Given the description of an element on the screen output the (x, y) to click on. 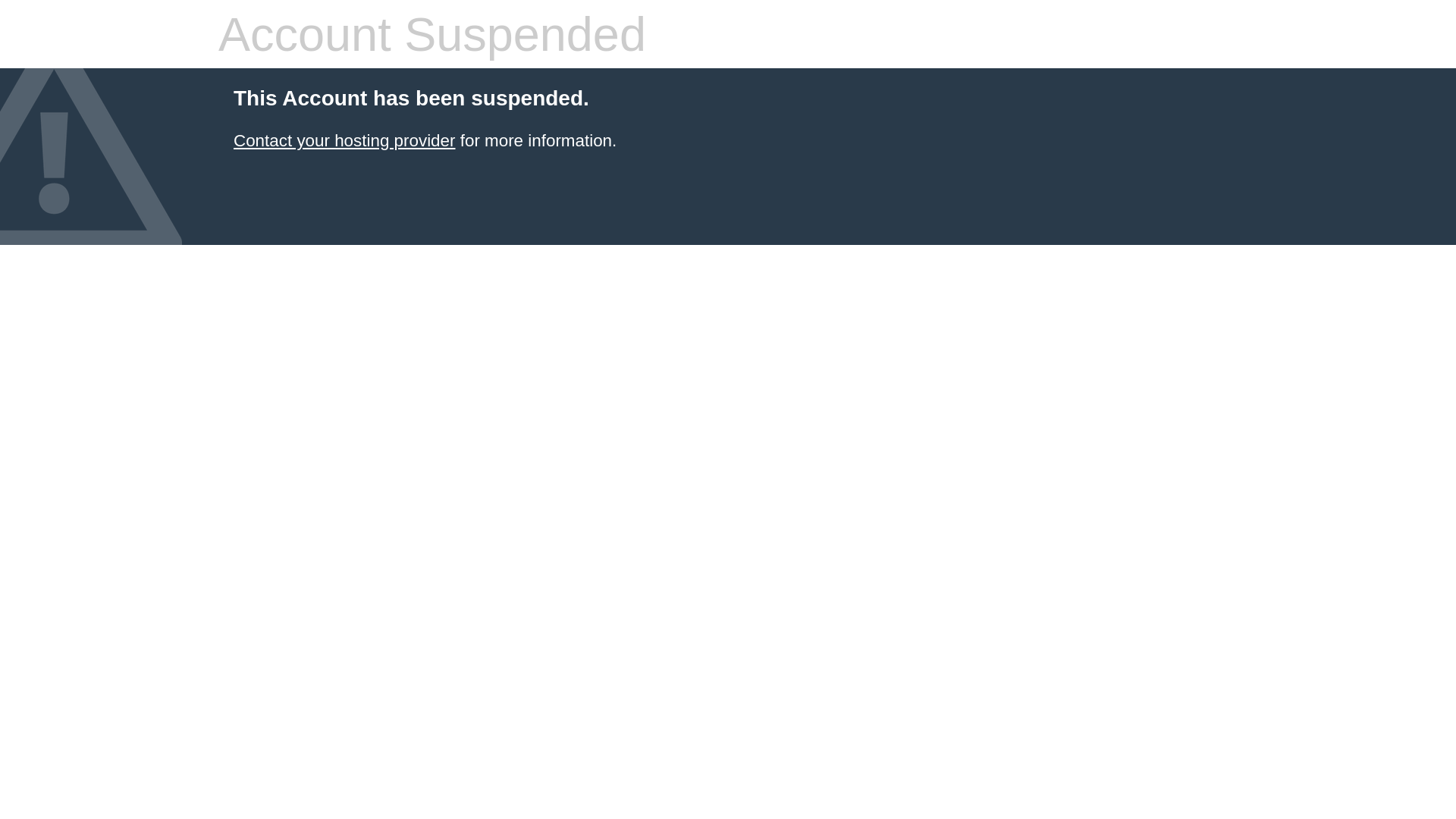
Contact your hosting provider Element type: text (344, 140)
